Given the description of an element on the screen output the (x, y) to click on. 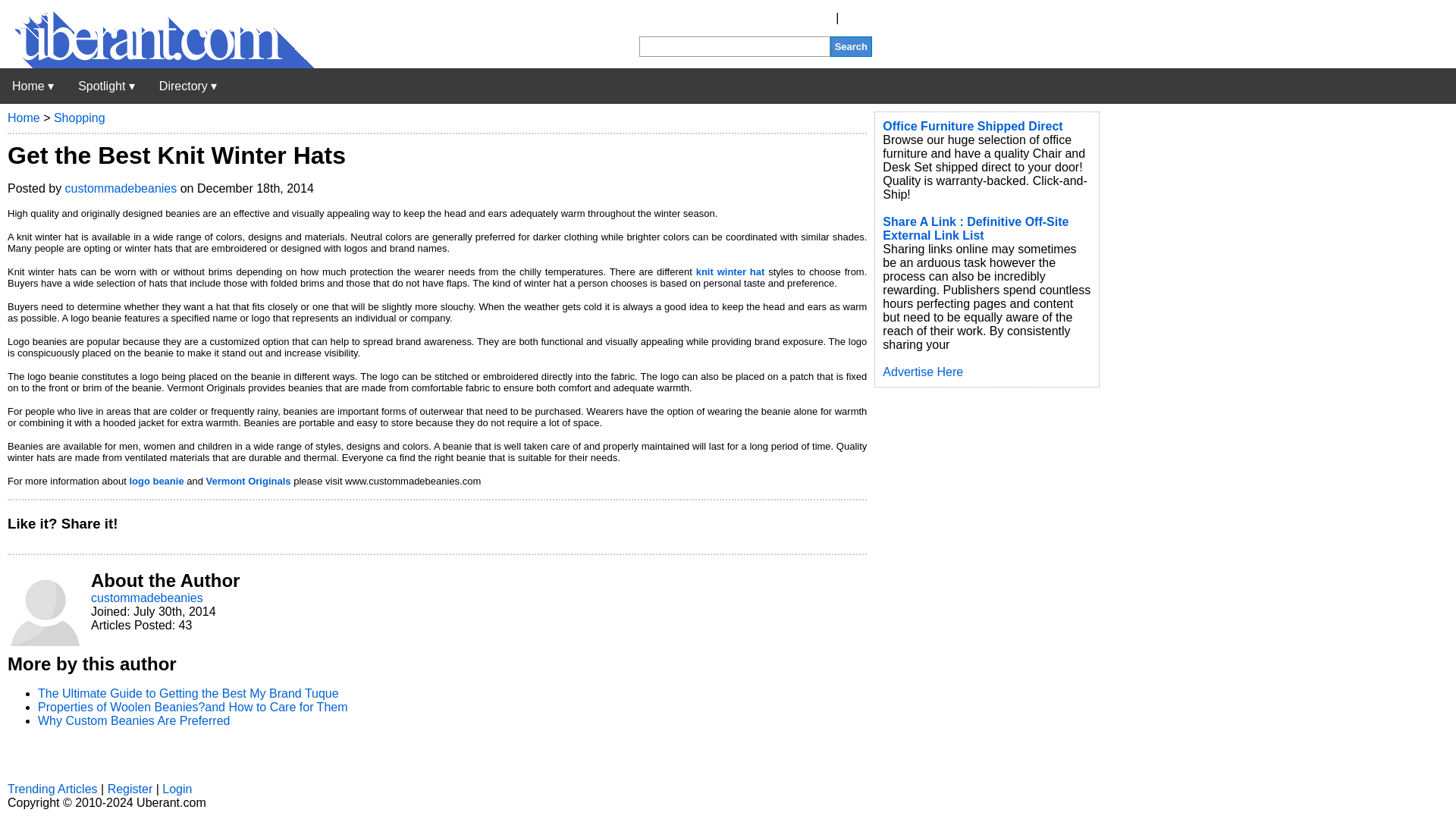
Uberant (32, 85)
Search (850, 46)
Login (857, 17)
Register (809, 17)
Search (850, 46)
Uberant (157, 63)
